Given the description of an element on the screen output the (x, y) to click on. 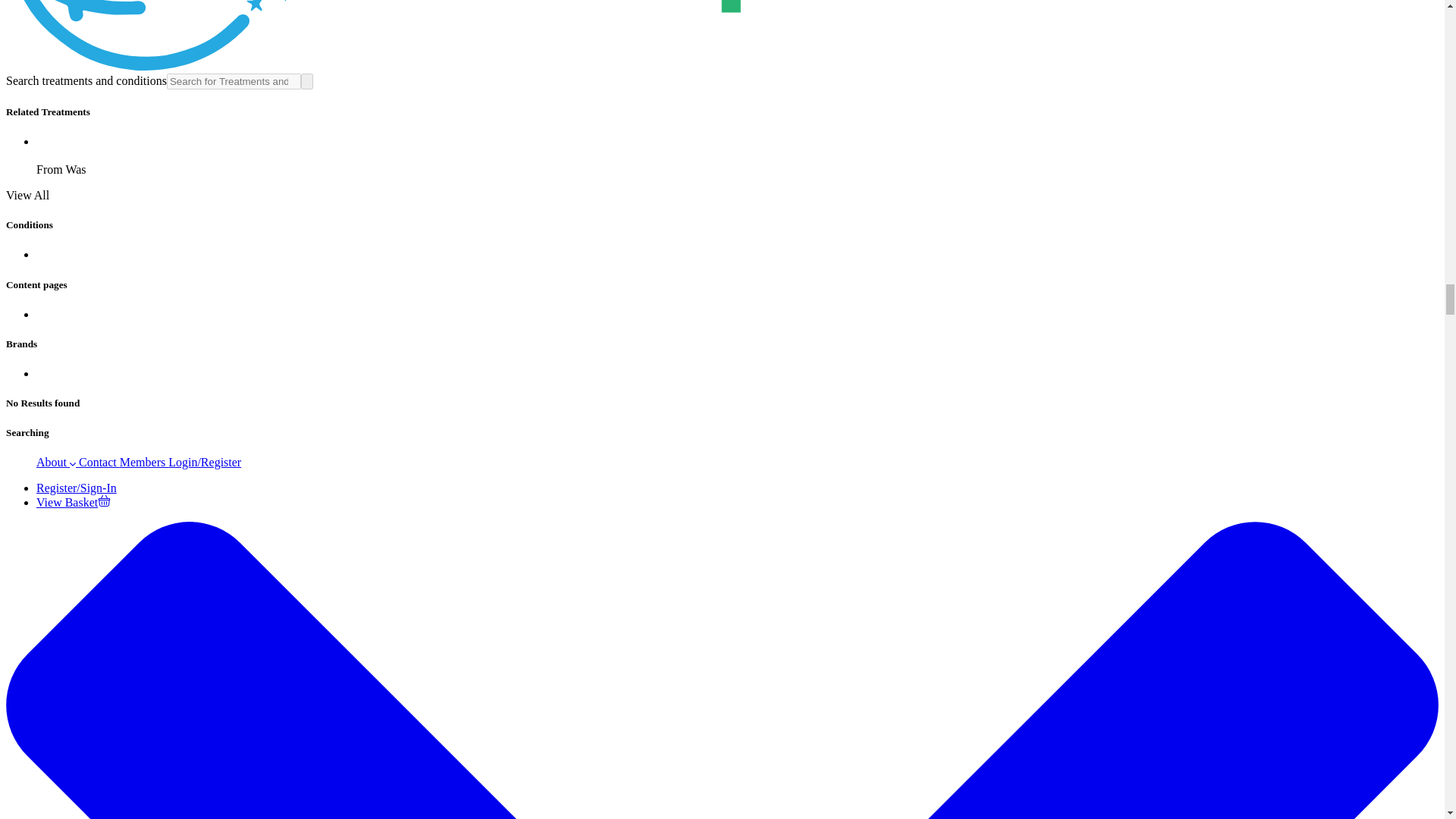
View basket (73, 502)
About (55, 461)
View All (27, 195)
Members (143, 461)
Contact (97, 461)
View Basket (73, 502)
